Given the description of an element on the screen output the (x, y) to click on. 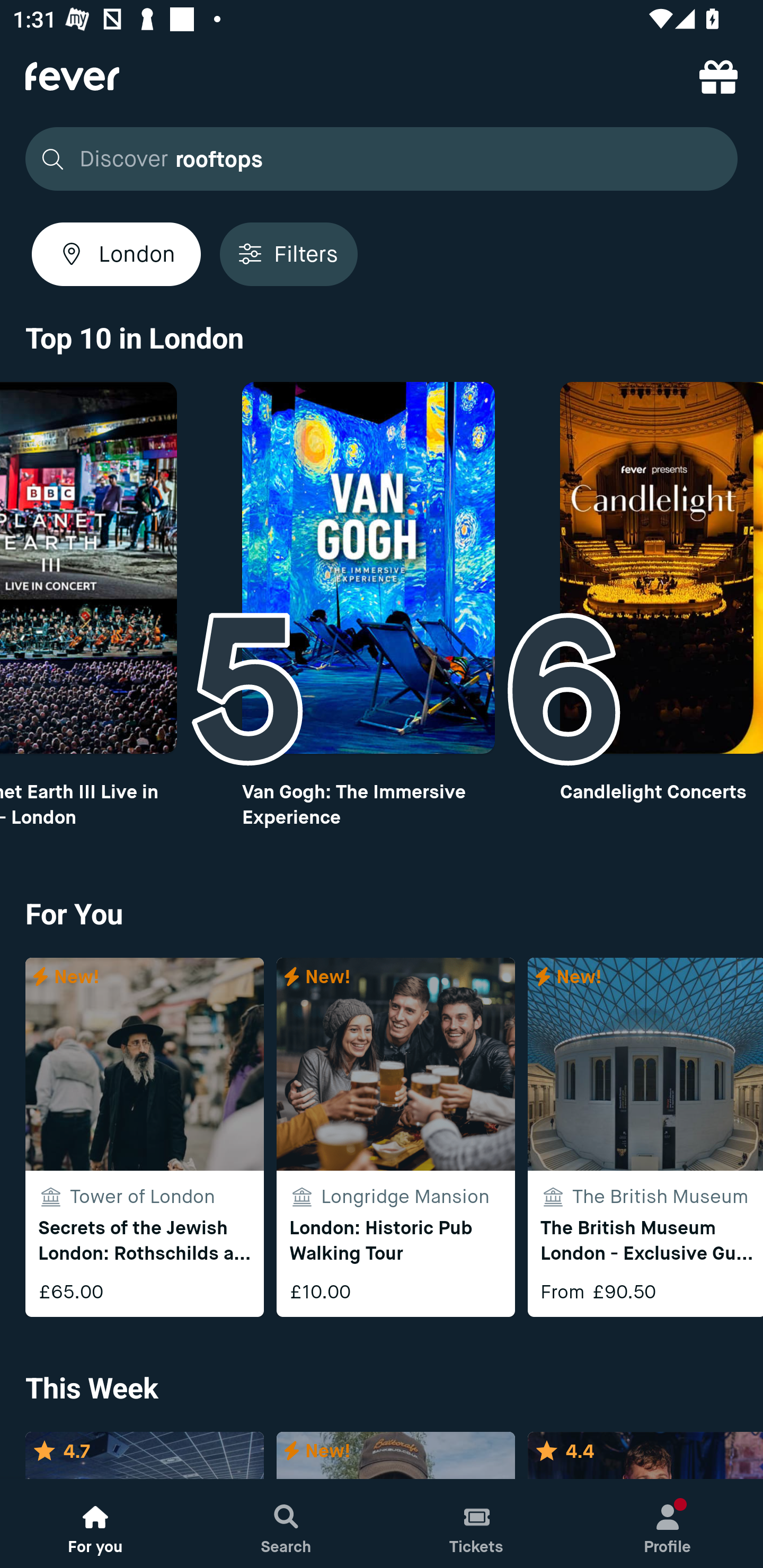
referral (718, 75)
Discover rooftops (381, 158)
Discover rooftops (376, 158)
London (116, 253)
Filters (288, 253)
Top10 image (88, 568)
Top10 image (368, 568)
Top10 image (661, 568)
Search (285, 1523)
Tickets (476, 1523)
Profile, New notification Profile (667, 1523)
